Given the description of an element on the screen output the (x, y) to click on. 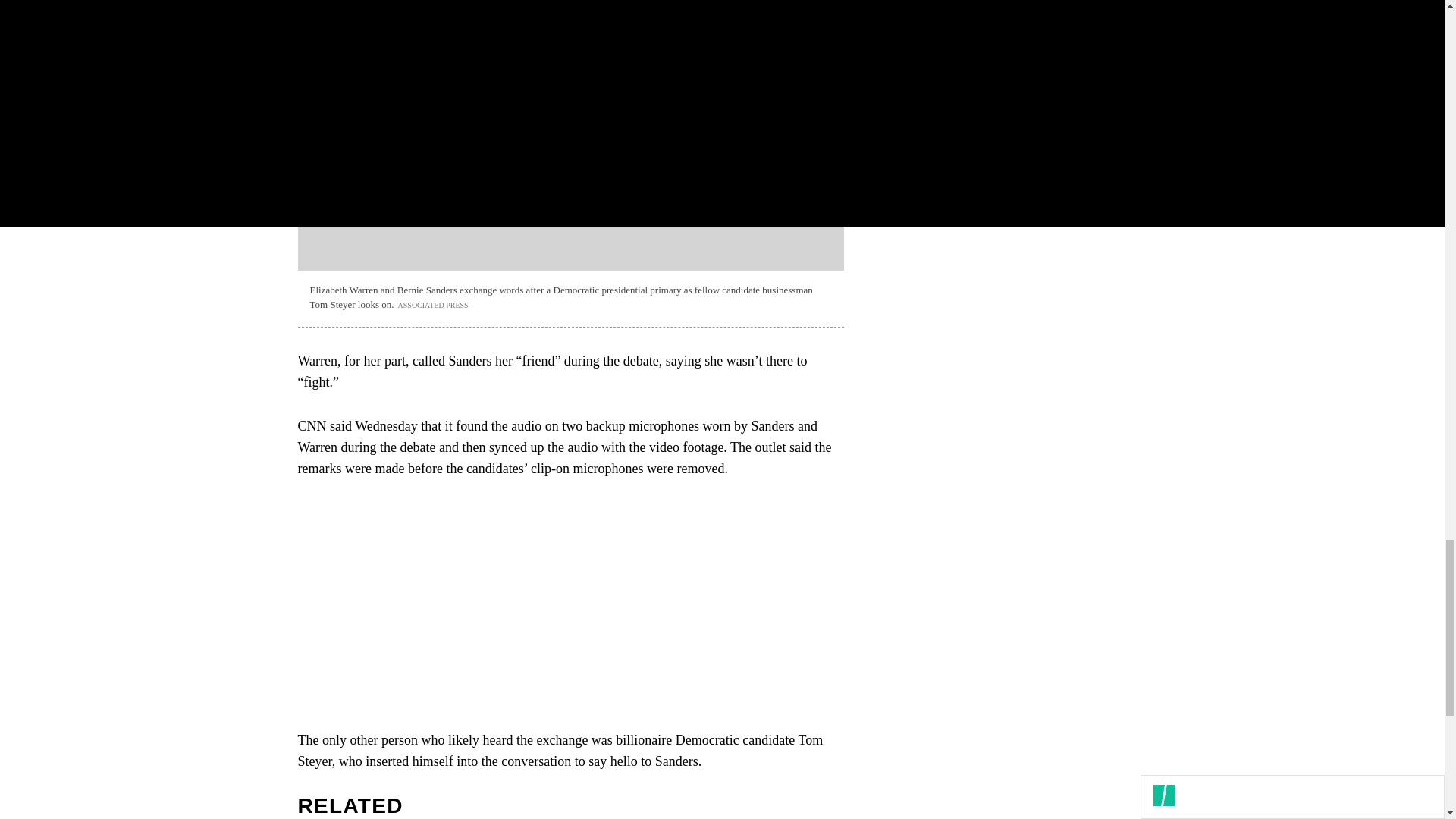
SIGN UP (1098, 144)
